Given the description of an element on the screen output the (x, y) to click on. 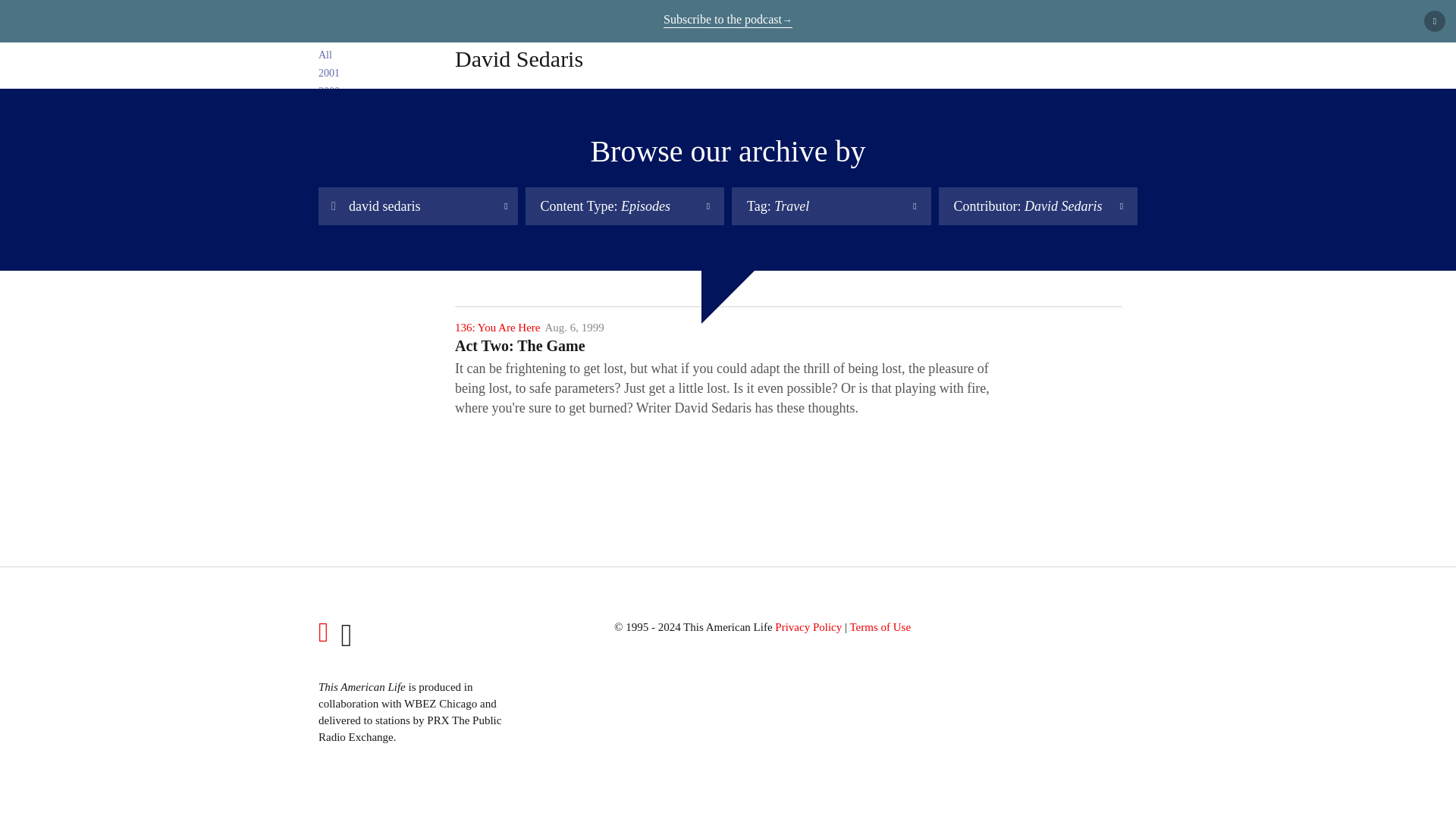
david sedaris (418, 206)
This American Life (317, 23)
